Given the description of an element on the screen output the (x, y) to click on. 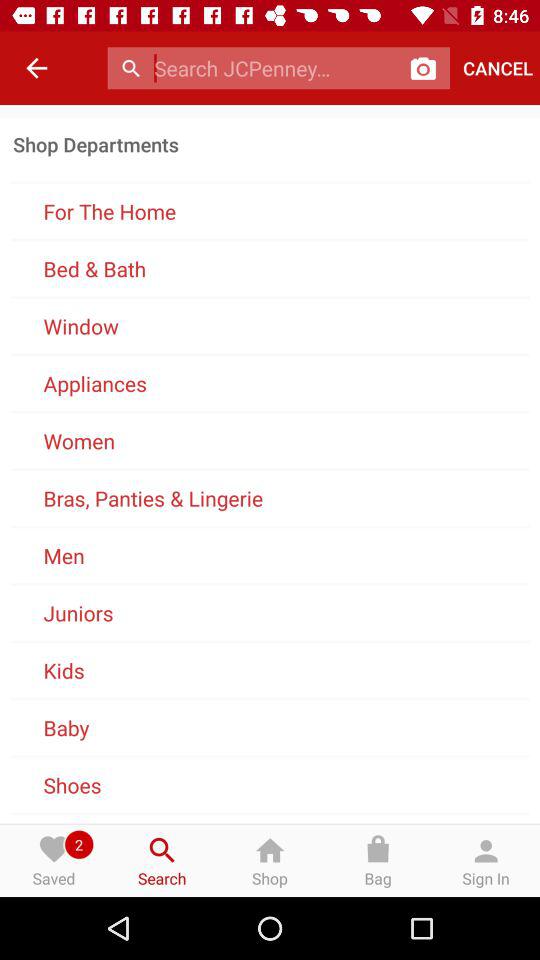
search text box (275, 68)
